Given the description of an element on the screen output the (x, y) to click on. 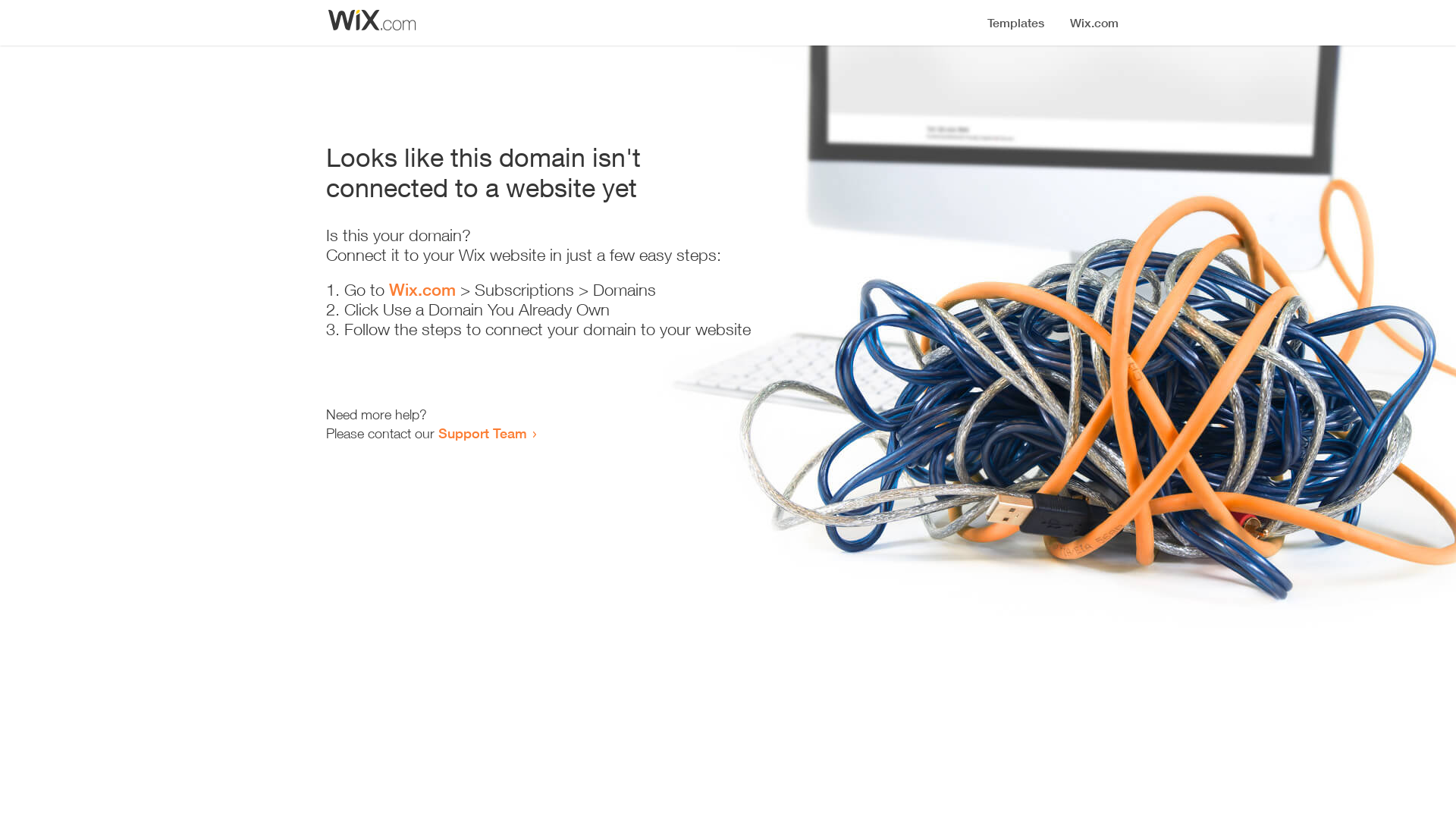
Support Team Element type: text (482, 432)
Wix.com Element type: text (422, 289)
